Given the description of an element on the screen output the (x, y) to click on. 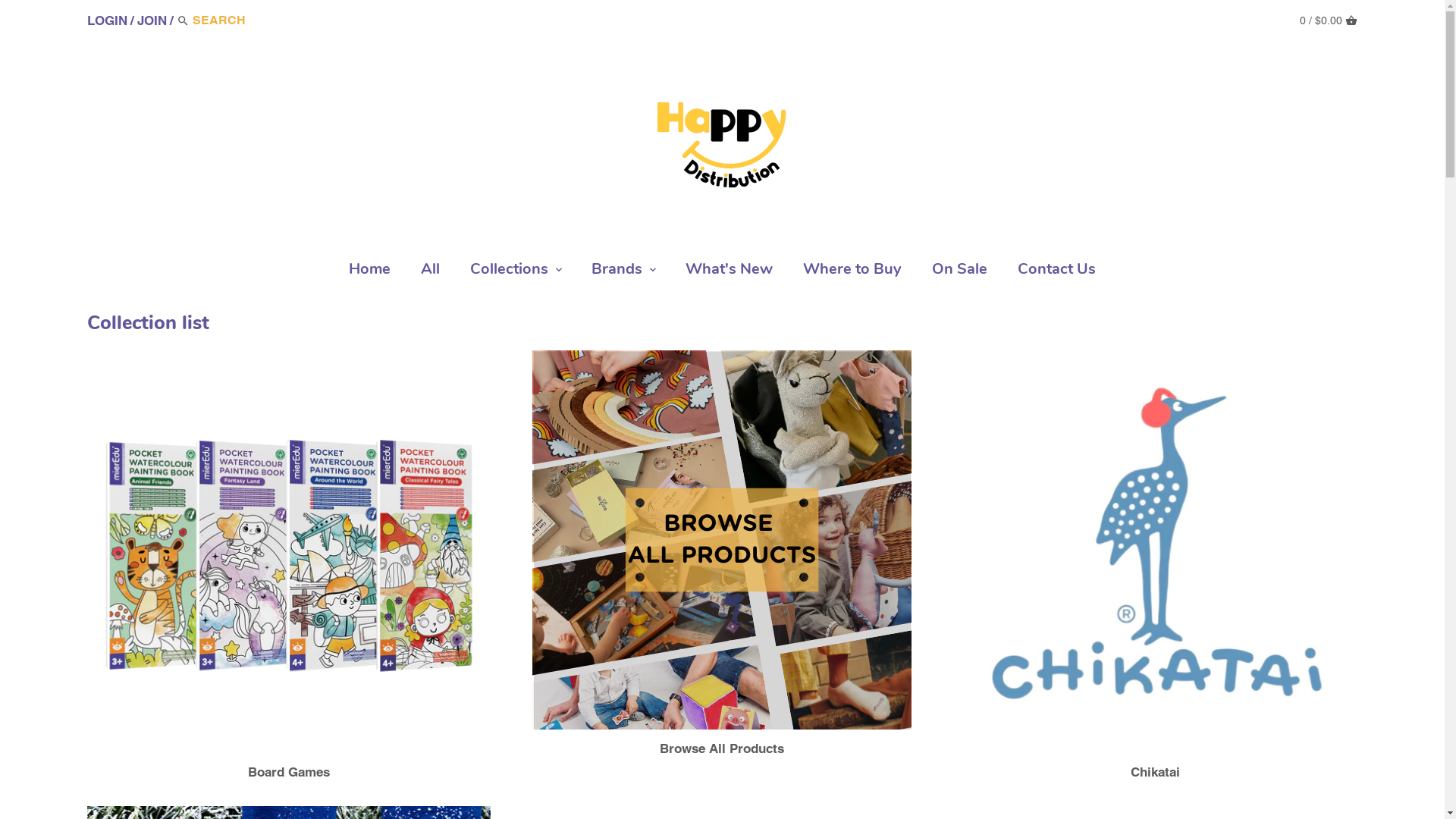
What's New Element type: text (728, 272)
Brands Element type: text (616, 272)
Chikatai Element type: text (1154, 771)
Collections Element type: text (509, 272)
Browse All Products Element type: text (721, 748)
JOIN Element type: text (151, 20)
LOGIN Element type: text (107, 20)
Where to Buy Element type: text (851, 272)
Contact Us Element type: text (1056, 272)
Board Games Element type: text (288, 771)
0 / $0.00 CART Element type: text (1328, 19)
All Element type: text (430, 272)
Search Element type: text (182, 21)
On Sale Element type: text (959, 272)
Home Element type: text (369, 272)
